Given the description of an element on the screen output the (x, y) to click on. 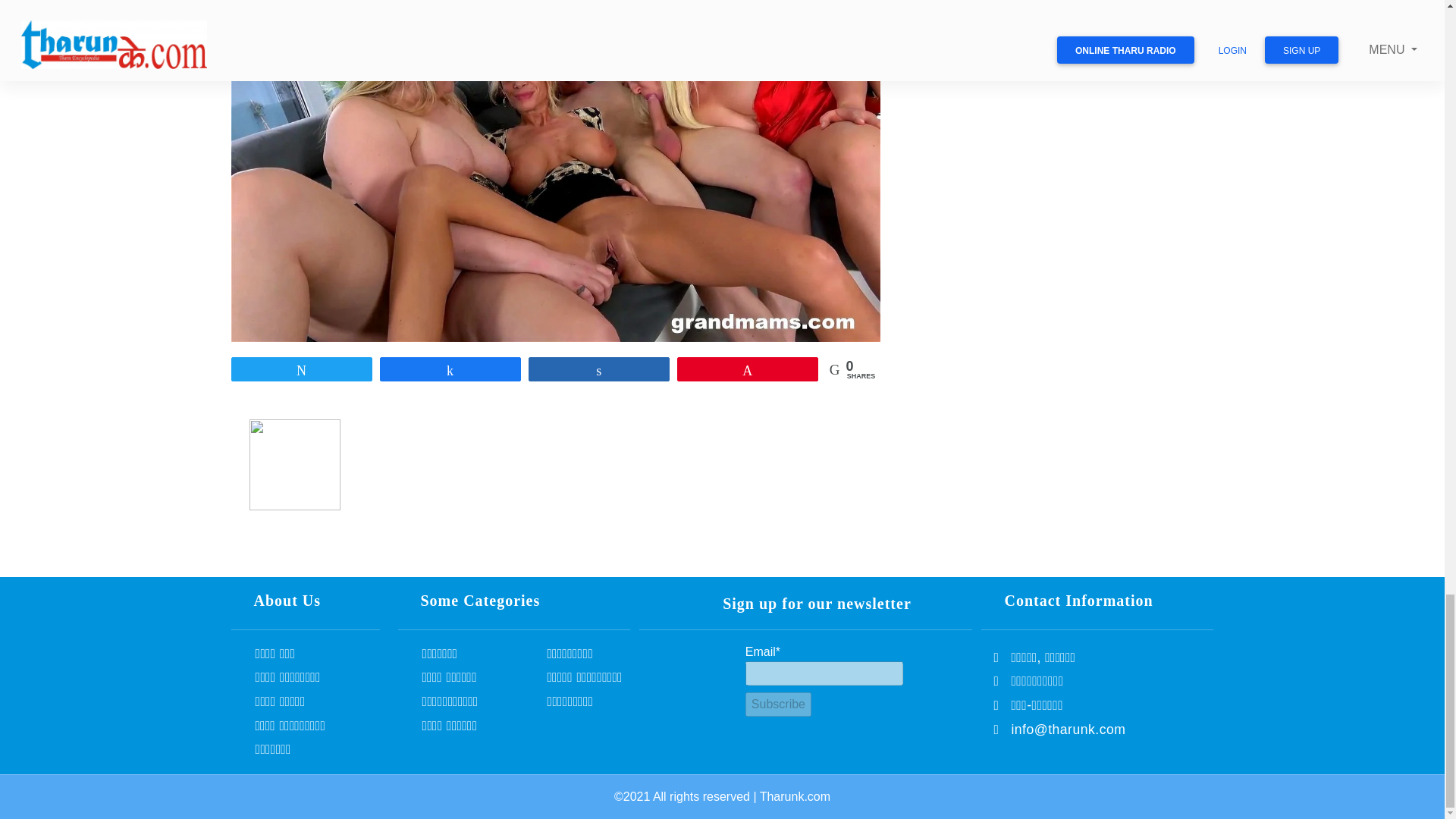
Subscribe (777, 704)
